Given the description of an element on the screen output the (x, y) to click on. 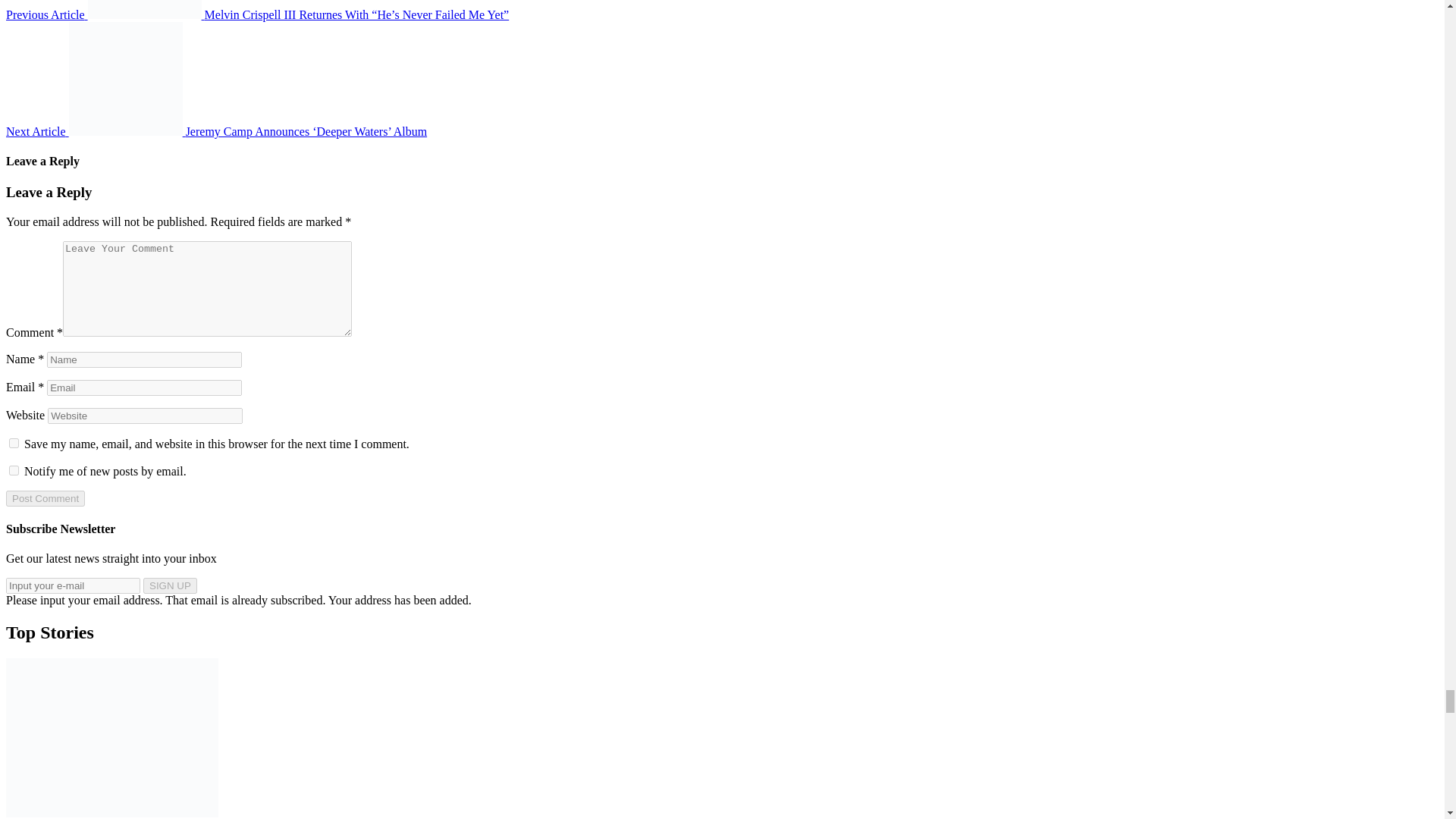
yes (13, 442)
Post Comment (44, 498)
subscribe (13, 470)
